Given the description of an element on the screen output the (x, y) to click on. 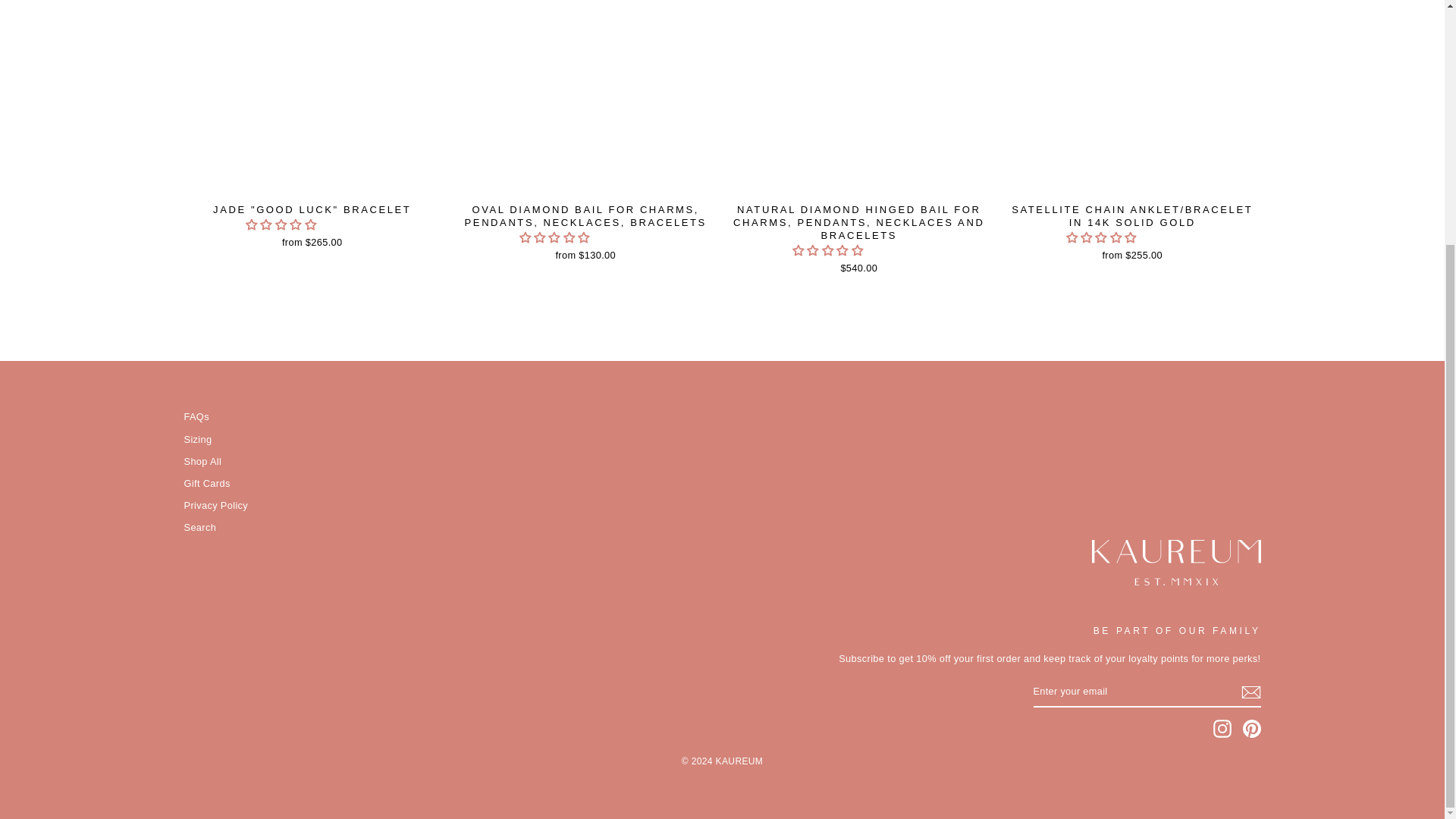
KAUREUM on Instagram (1221, 728)
KAUREUM on Pinterest (1250, 728)
